Given the description of an element on the screen output the (x, y) to click on. 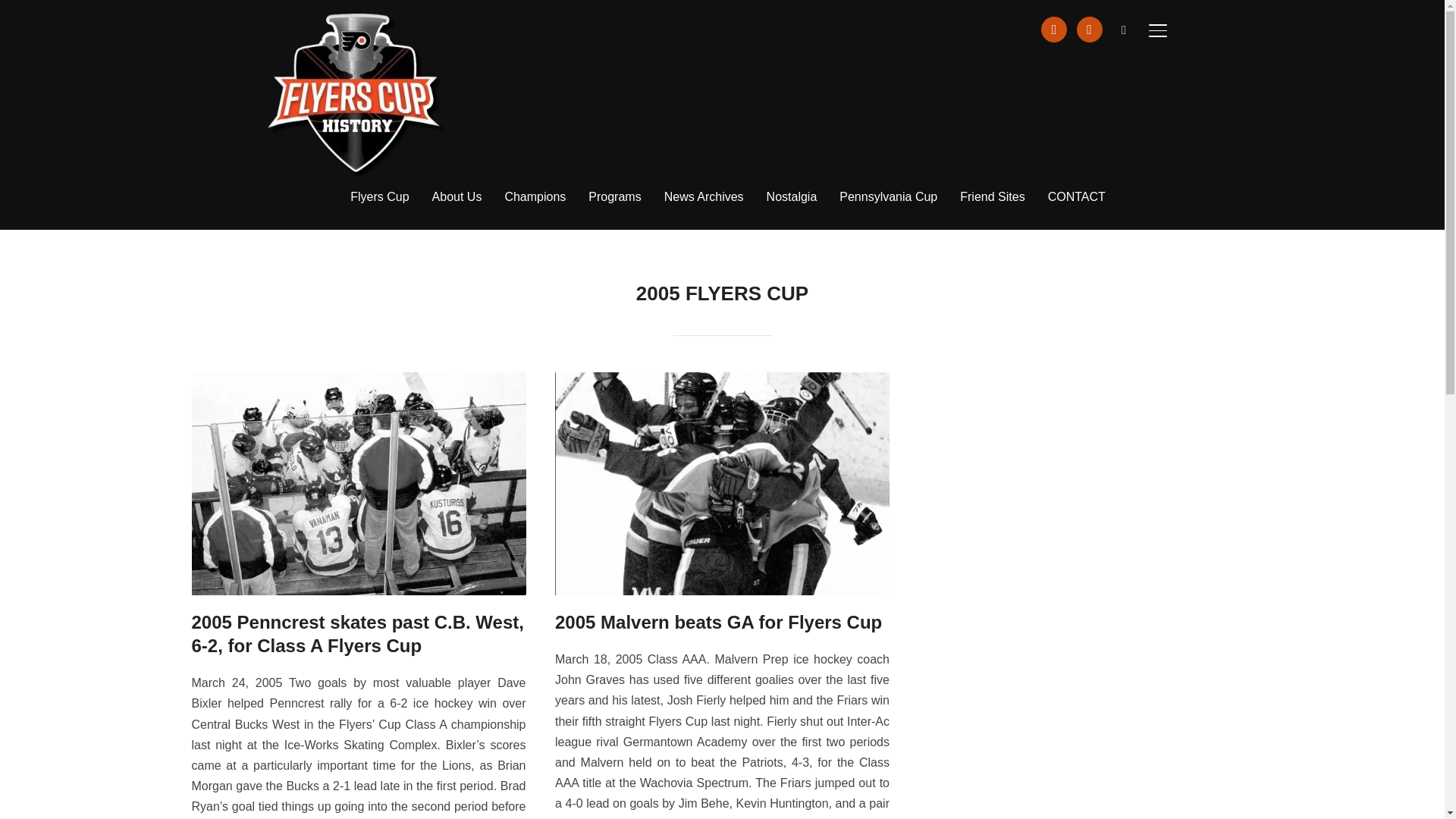
Facebook (1054, 28)
2005 Malvern beats GA for Flyers Cup (721, 382)
Twitter (1089, 28)
